Given the description of an element on the screen output the (x, y) to click on. 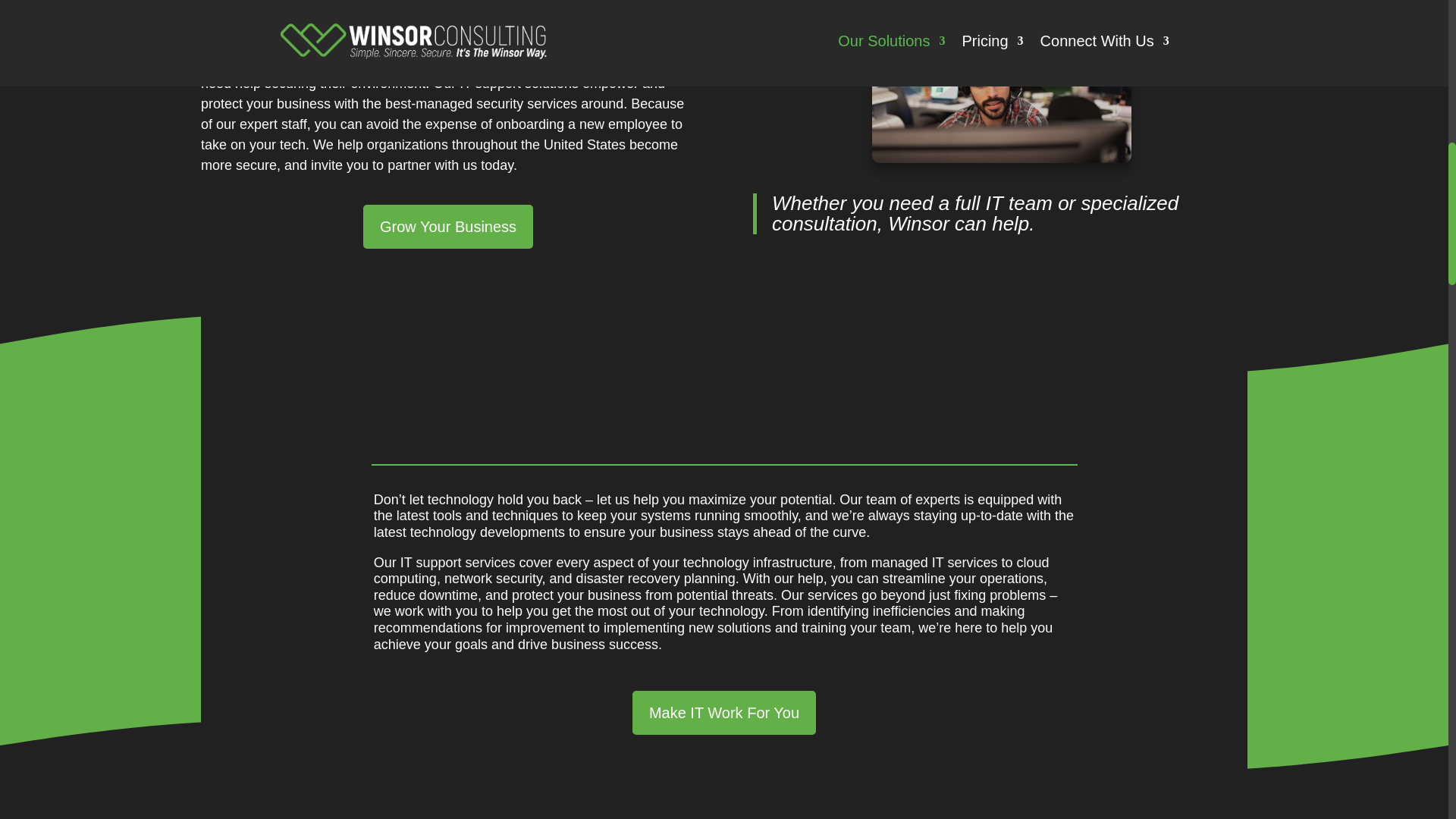
Winsor Consulting IT Support Team (1000, 89)
Make IT Work For You (723, 712)
Grow Your Business (447, 226)
